Given the description of an element on the screen output the (x, y) to click on. 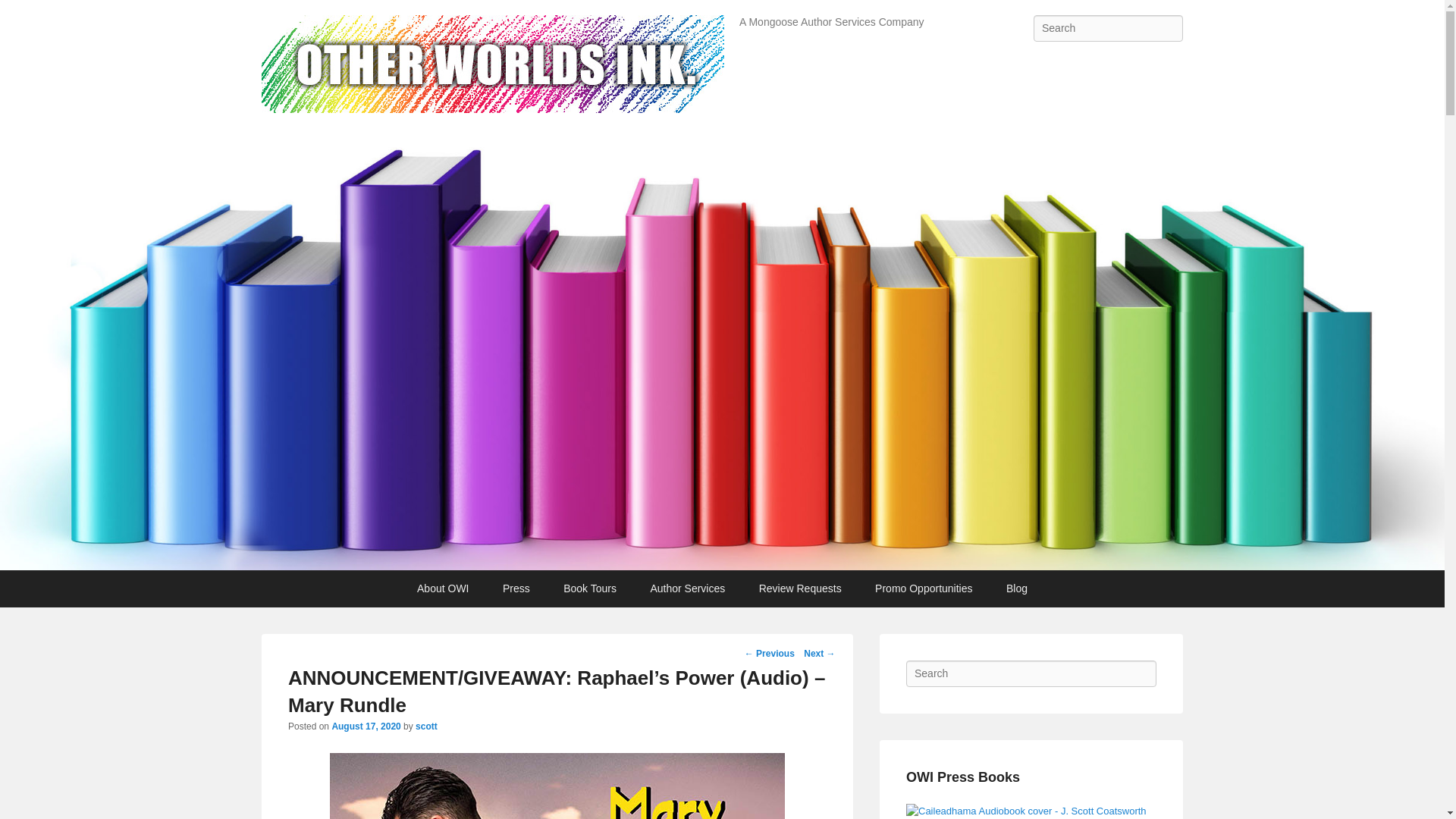
About OWI (442, 588)
Promo Opportunities (923, 588)
Press (515, 588)
Author Services (686, 588)
scott (426, 726)
Book Tours (589, 588)
August 17, 2020 (365, 726)
Search (24, 14)
Review Requests (800, 588)
